Given the description of an element on the screen output the (x, y) to click on. 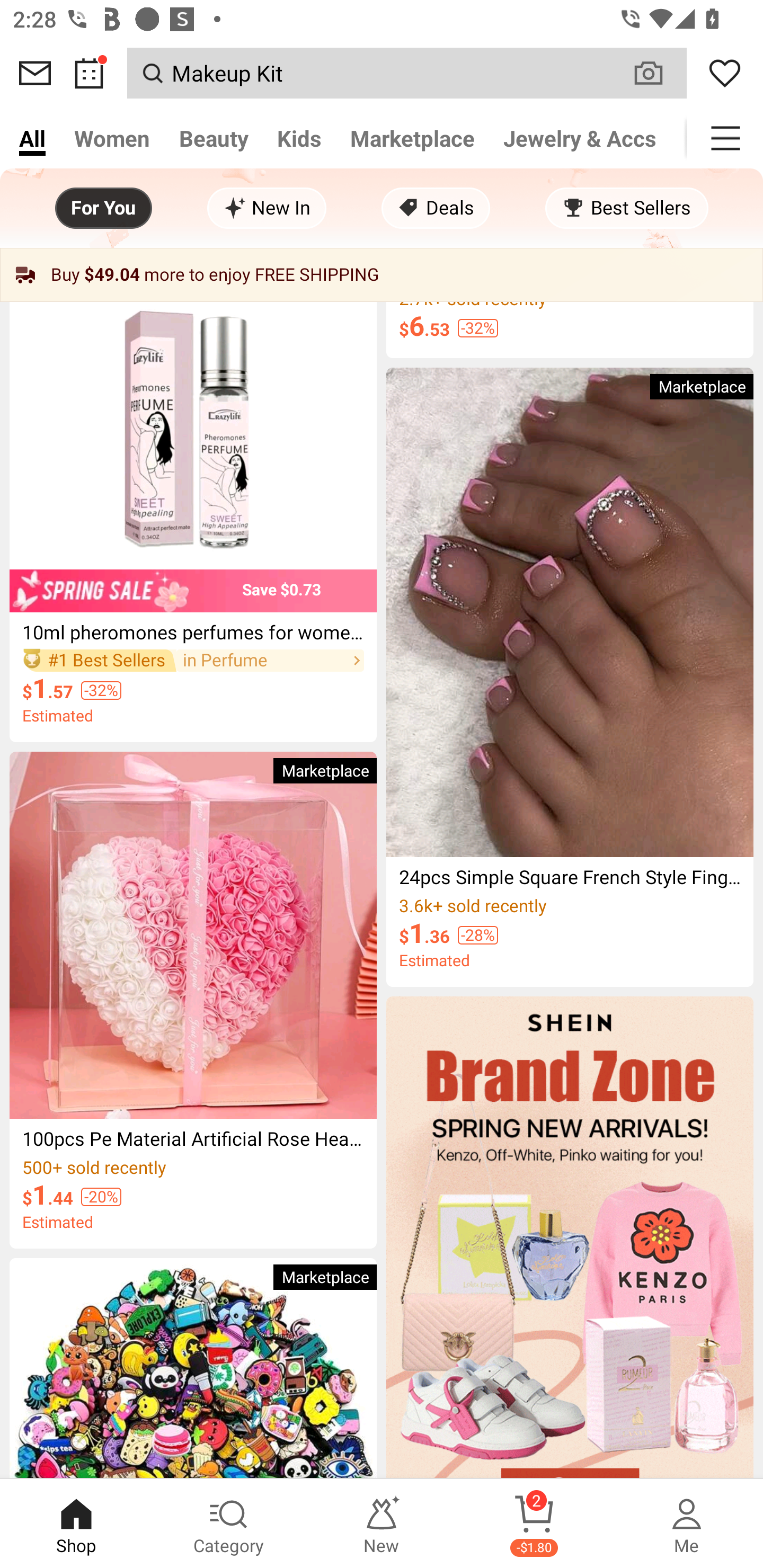
Wishlist (724, 72)
VISUAL SEARCH (657, 72)
All (31, 137)
Women (111, 137)
Beauty (213, 137)
Kids (298, 137)
Marketplace (412, 137)
Jewelry & Accs (580, 137)
New In (266, 207)
Deals (435, 207)
Best Sellers (626, 207)
#1 Best Sellers in Perfume (192, 659)
Category (228, 1523)
New (381, 1523)
Cart 2 -$1.80 (533, 1523)
Me (686, 1523)
